Given the description of an element on the screen output the (x, y) to click on. 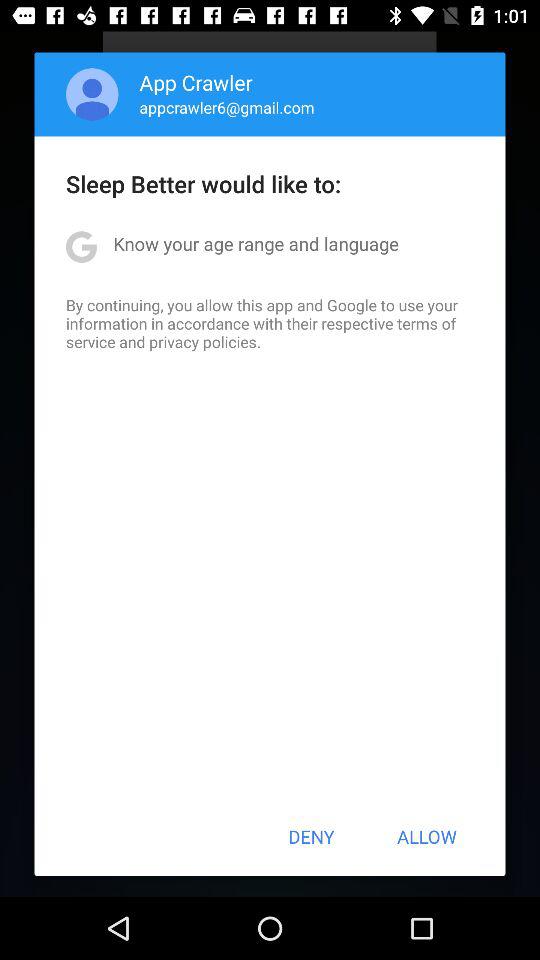
open item above sleep better would icon (226, 107)
